Given the description of an element on the screen output the (x, y) to click on. 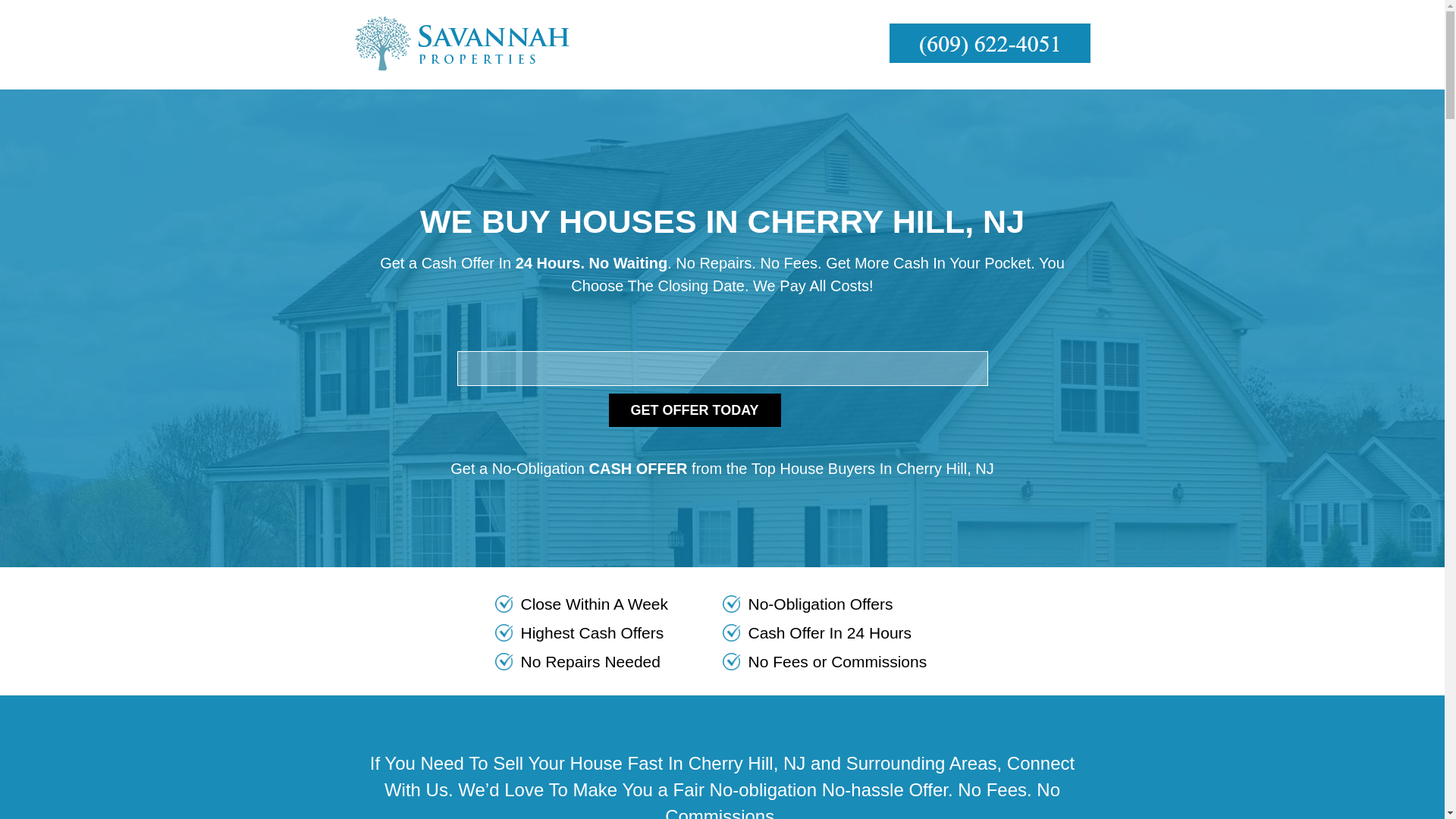
Close Within A Week (608, 604)
GET OFFER TODAY (694, 409)
No Repairs Needed (608, 661)
No Fees or Commissions (835, 661)
No-Obligation Offers (835, 604)
GET OFFER TODAY (694, 409)
Cash Offer In 24 Hours (835, 633)
Highest Cash Offers (608, 633)
